Given the description of an element on the screen output the (x, y) to click on. 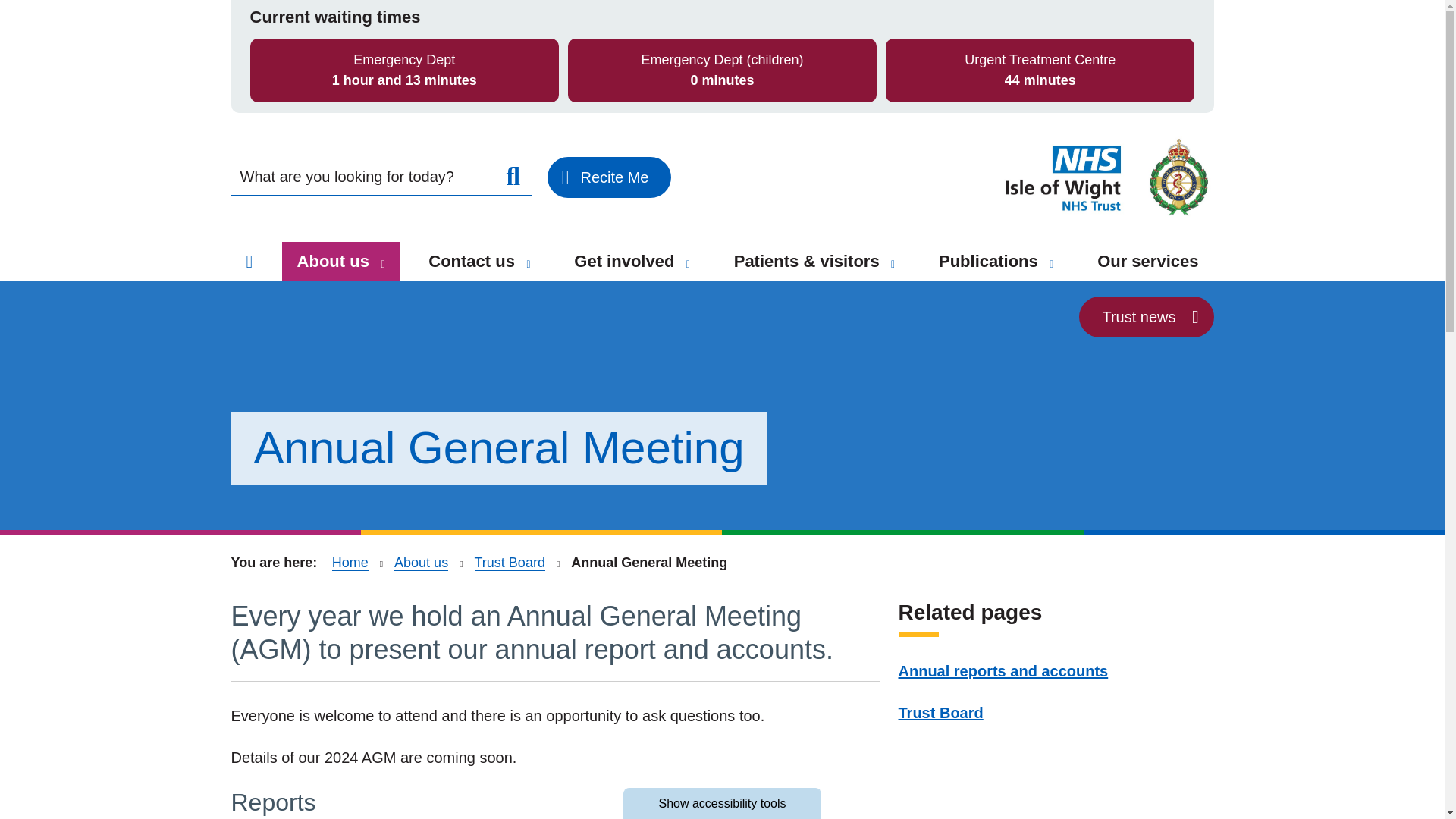
Expenditure 2021 (570, 93)
Home (248, 261)
Isle of Wight NHS Trust homepage (1106, 177)
Bribery Act Compliance Statement (339, 11)
Emergency planning (328, 111)
Search (513, 177)
Equality and diversity (331, 145)
Expenditure 2023 (570, 40)
About us (382, 264)
About us (340, 261)
